Given the description of an element on the screen output the (x, y) to click on. 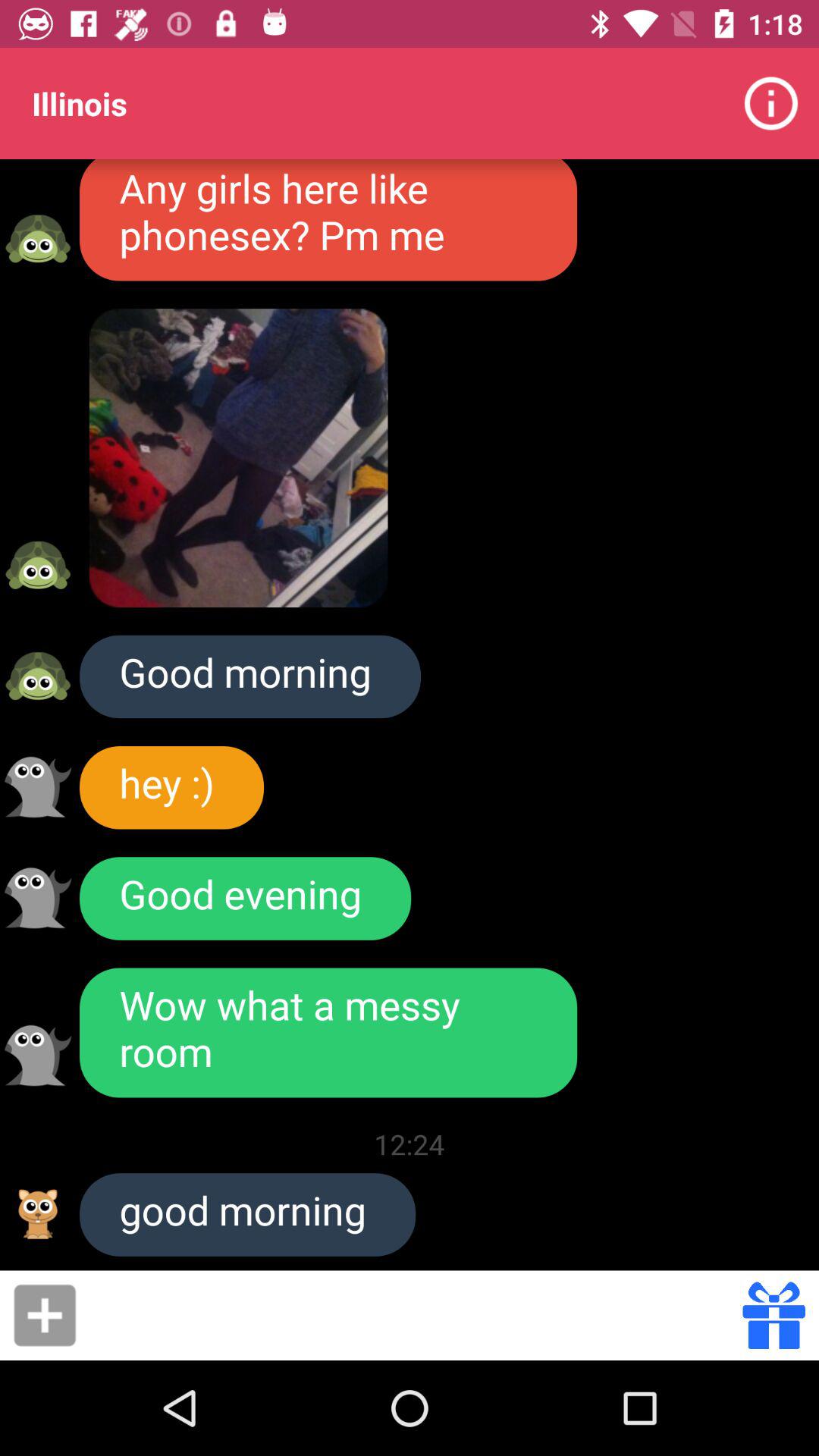
see icon for selected user (38, 787)
